Given the description of an element on the screen output the (x, y) to click on. 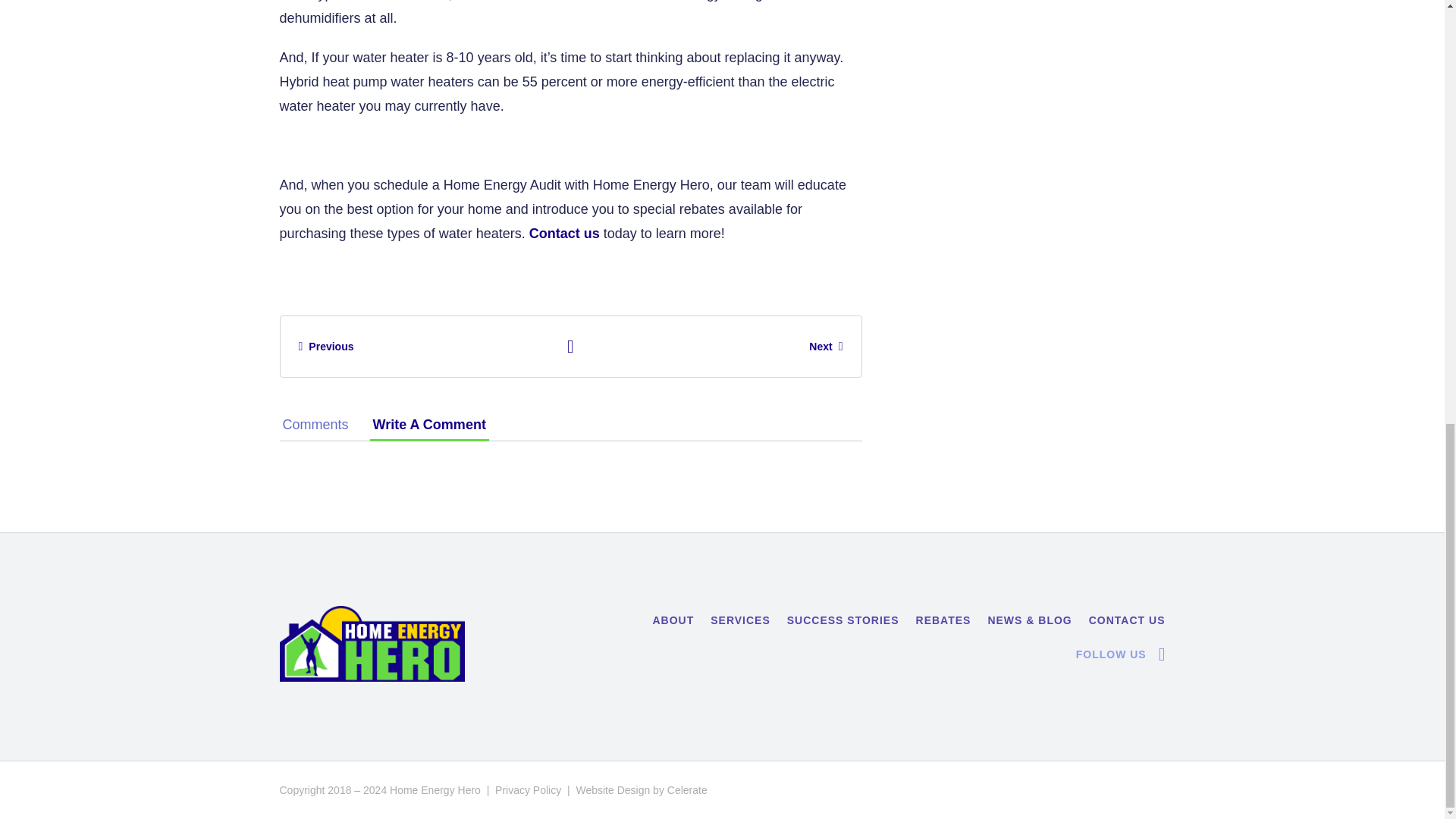
Privacy Policy (527, 789)
Comments (314, 424)
CONTACT US (1127, 620)
Write A Comment (429, 424)
ABOUT (673, 620)
Privacy Policy (527, 789)
SUCCESS STORIES (843, 620)
Web design and development (612, 789)
Website Design (612, 789)
Previous (325, 346)
